Given the description of an element on the screen output the (x, y) to click on. 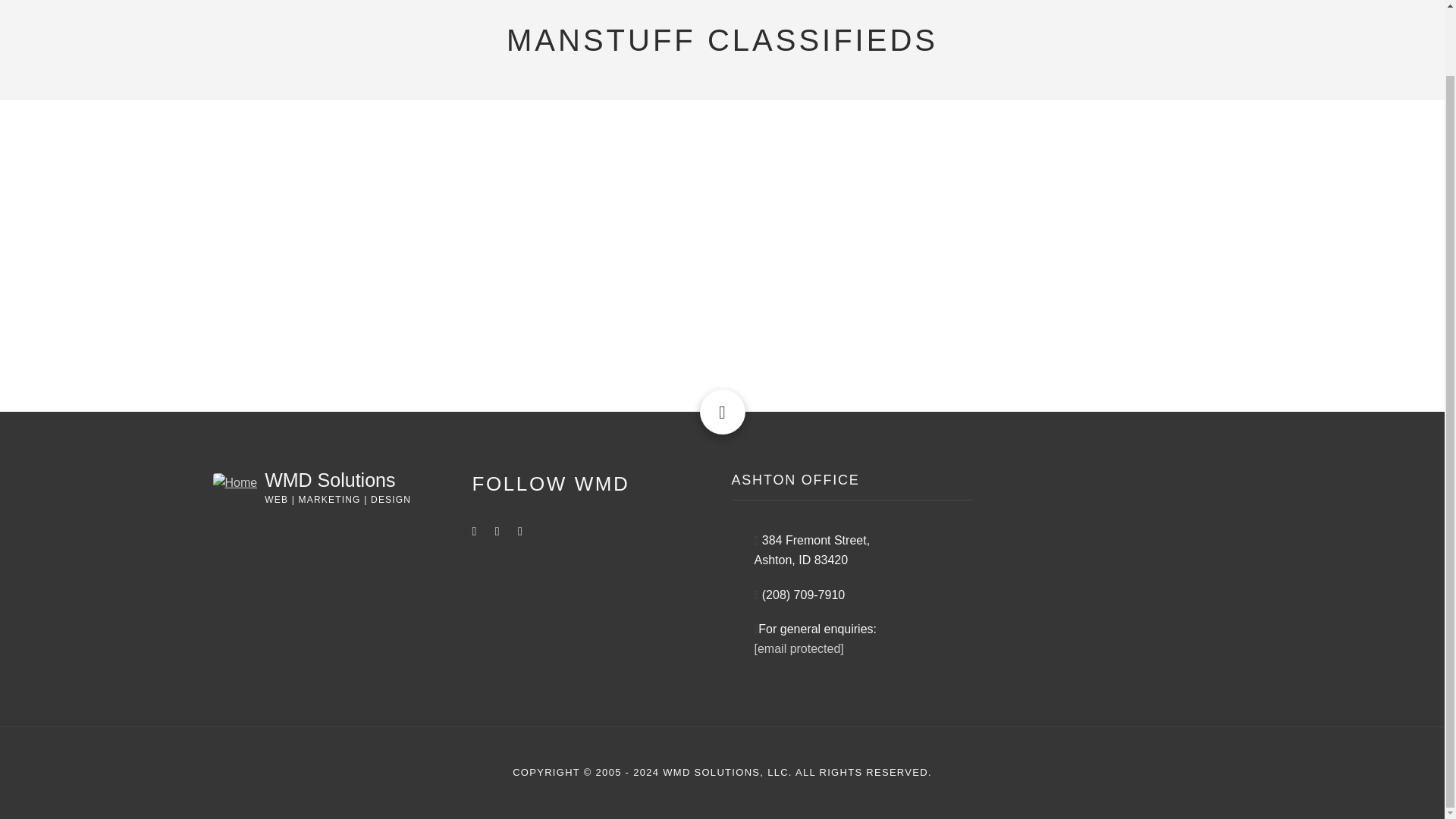
WMD Solutions (329, 479)
twitter (520, 531)
facebook-f (473, 531)
Home (234, 481)
instagram (497, 531)
Home (329, 479)
